Given the description of an element on the screen output the (x, y) to click on. 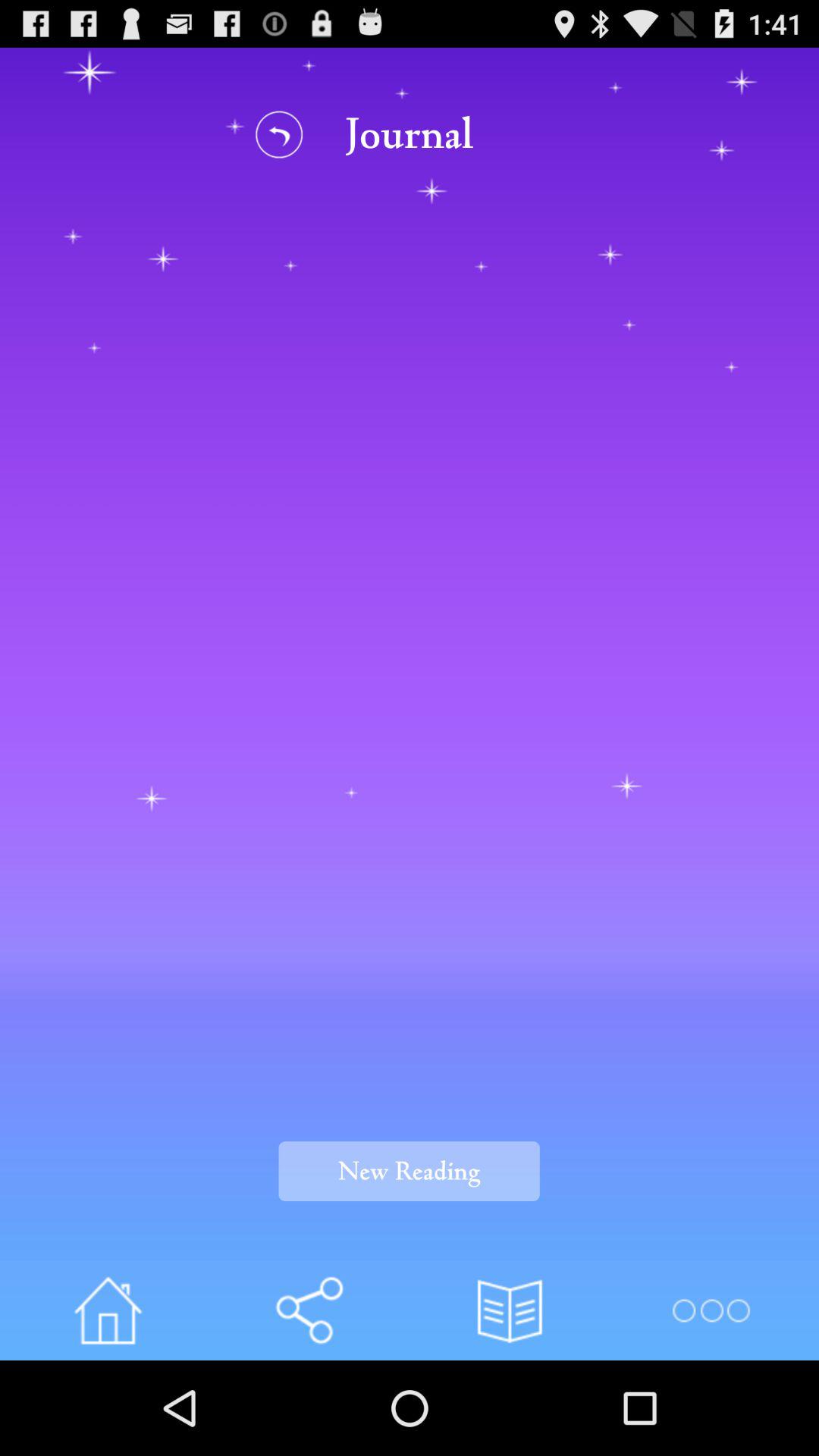
go to home page (107, 1310)
